Given the description of an element on the screen output the (x, y) to click on. 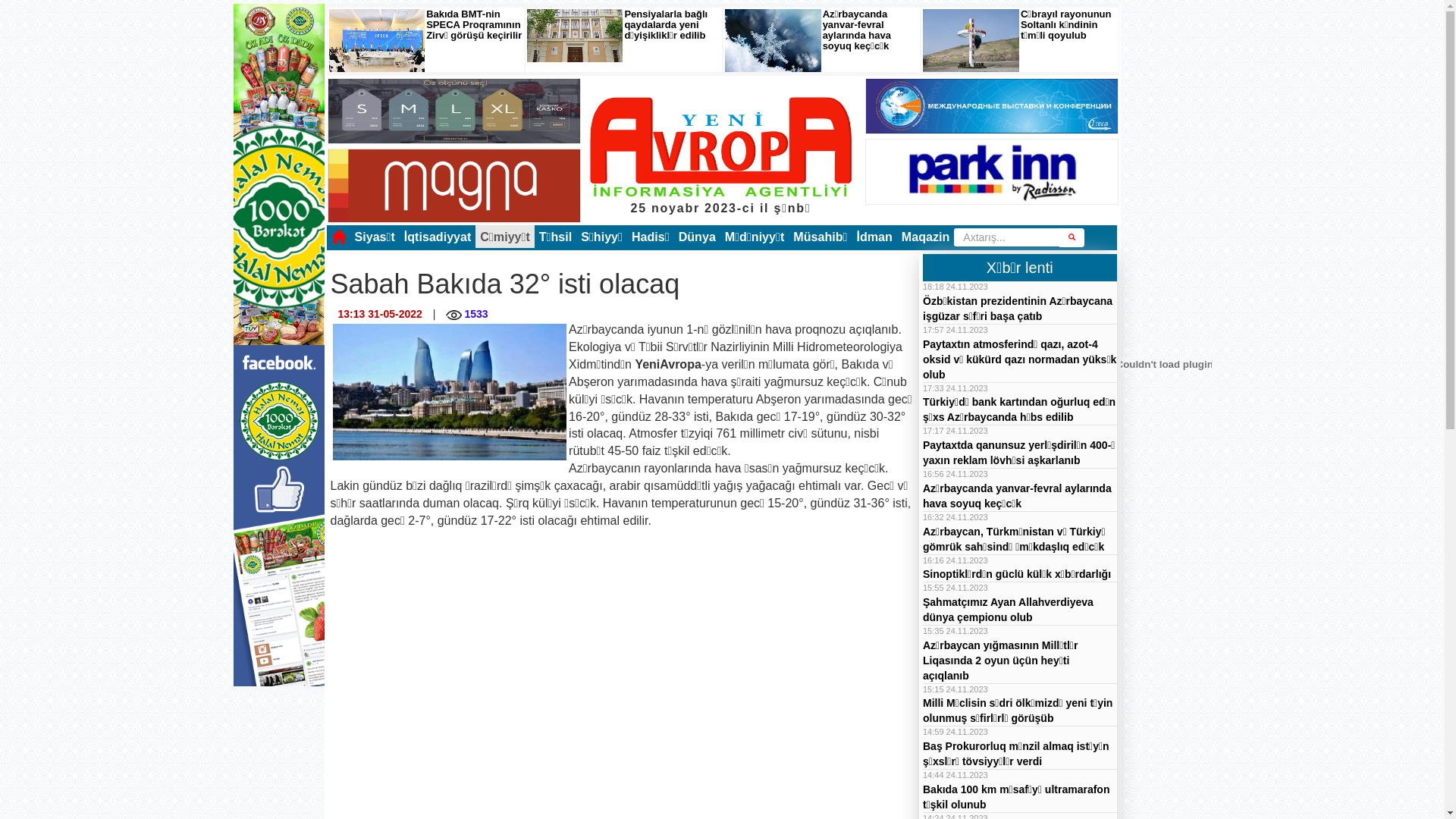
Maqazin Element type: text (925, 236)
